Given the description of an element on the screen output the (x, y) to click on. 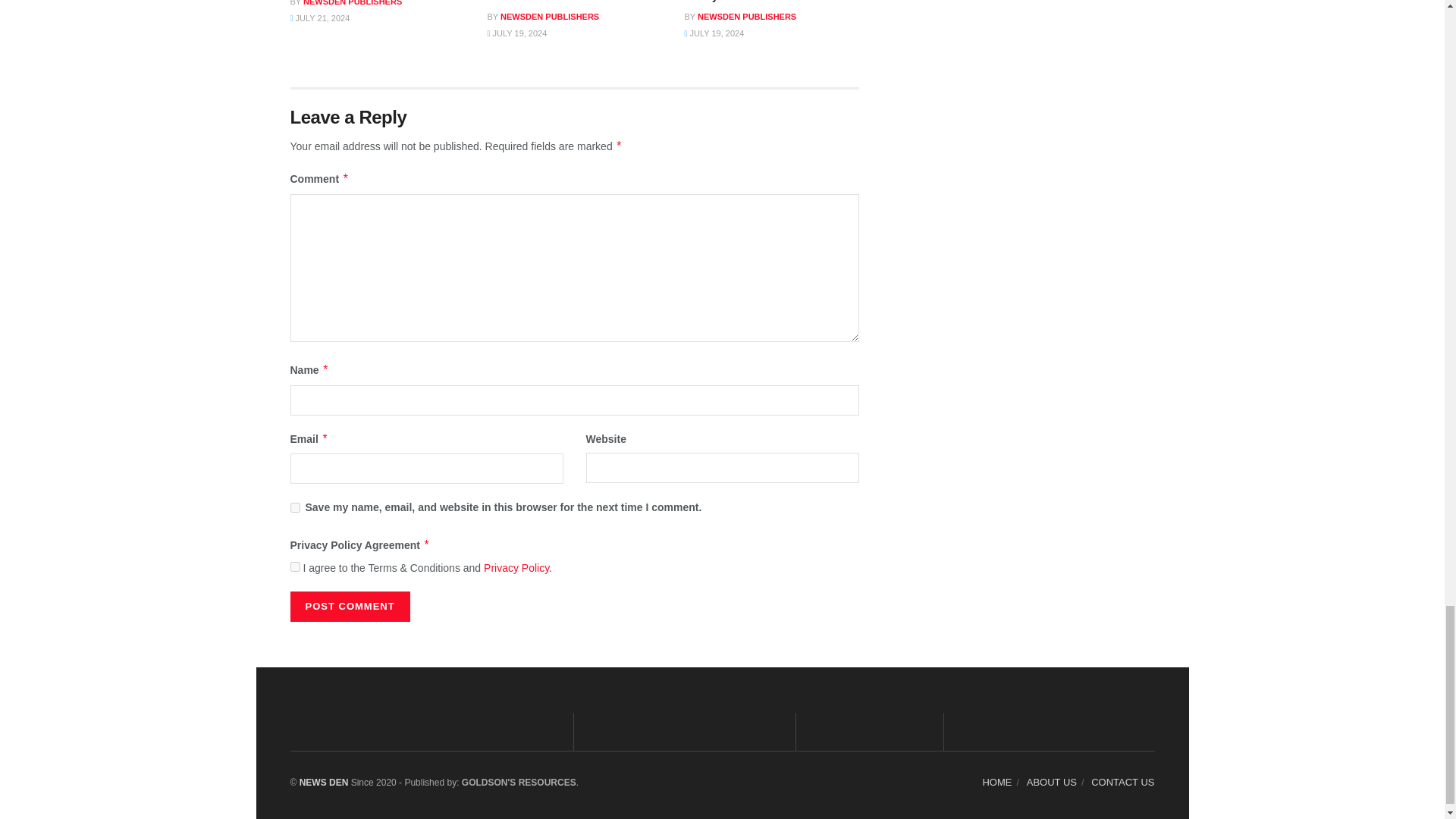
on (294, 566)
Post Comment (349, 606)
yes (294, 507)
